Given the description of an element on the screen output the (x, y) to click on. 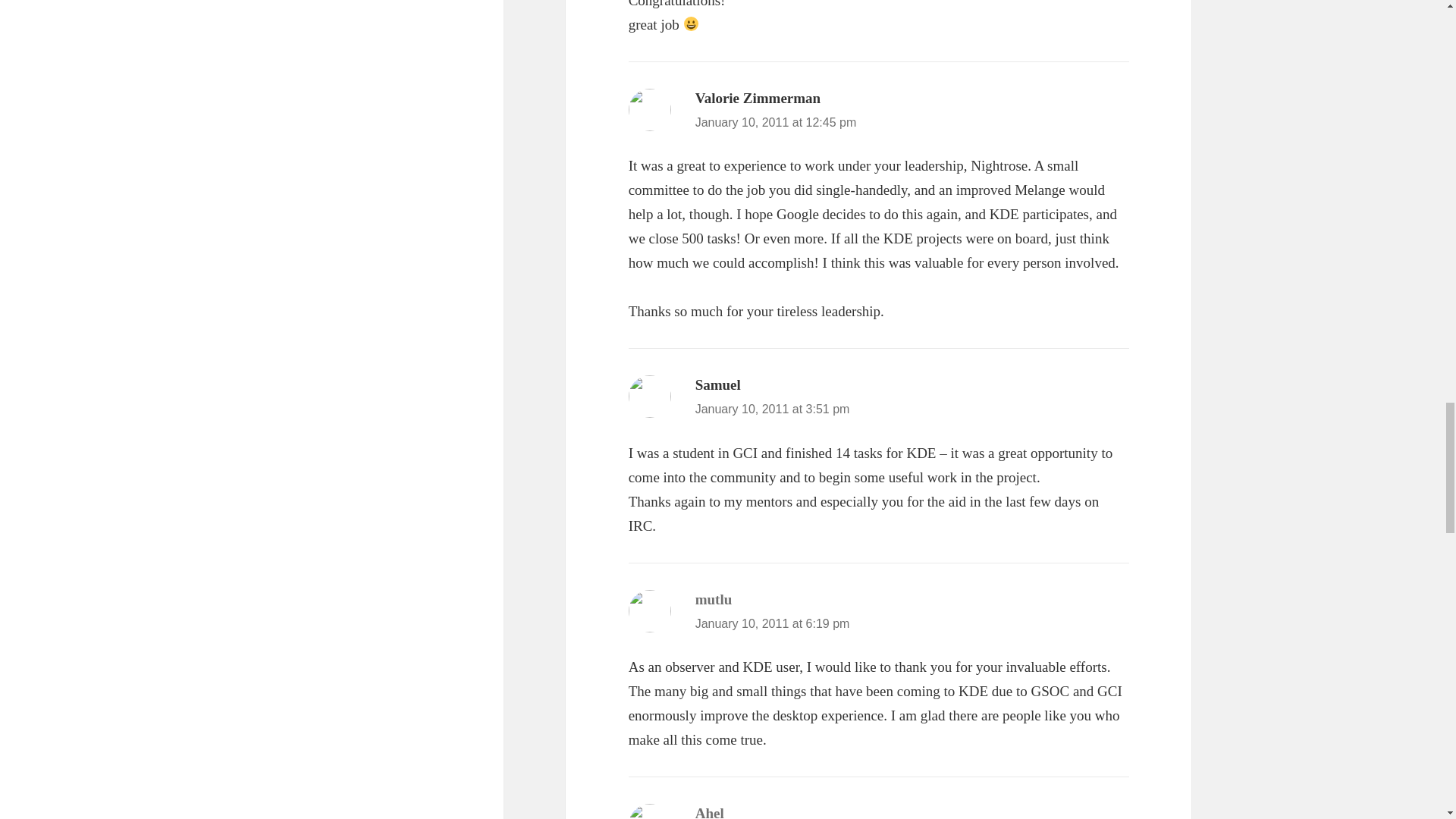
January 10, 2011 at 12:45 pm (776, 122)
January 10, 2011 at 6:19 pm (772, 623)
Samuel (718, 384)
January 10, 2011 at 3:51 pm (772, 408)
Valorie Zimmerman (758, 98)
